Given the description of an element on the screen output the (x, y) to click on. 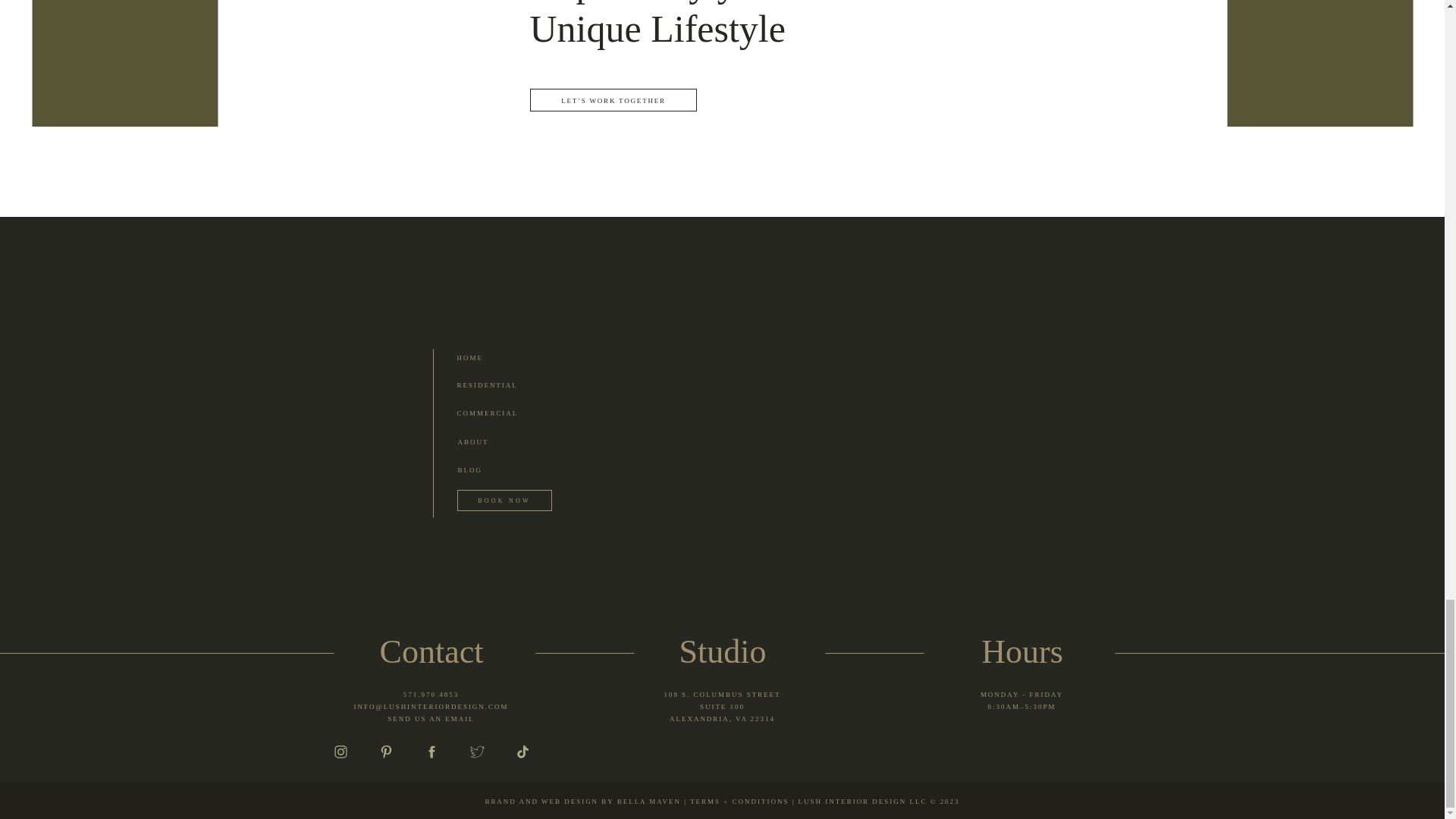
BOOK NOW (505, 501)
COMMERCIAL  (721, 709)
571.970.4853 (502, 412)
RESIDENTIAL  (430, 694)
ABOUT (502, 384)
HOME (489, 440)
BLOG (488, 357)
